Given the description of an element on the screen output the (x, y) to click on. 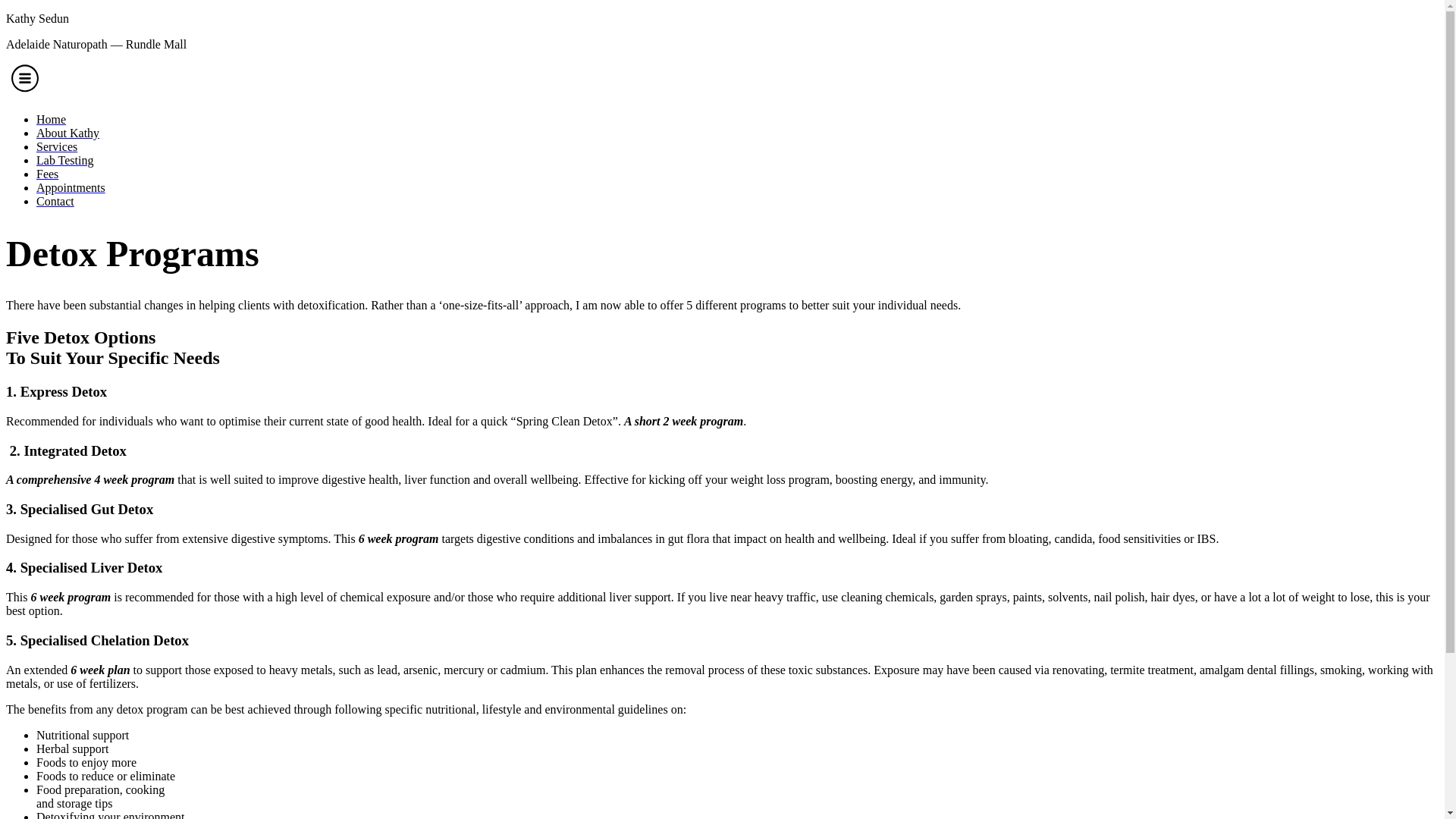
Home Element type: text (737, 119)
Services Element type: text (737, 146)
Contact Element type: text (737, 201)
Appointments Element type: text (737, 187)
Fees Element type: text (737, 174)
Lab Testing Element type: text (737, 160)
About Kathy Element type: text (737, 133)
